Given the description of an element on the screen output the (x, y) to click on. 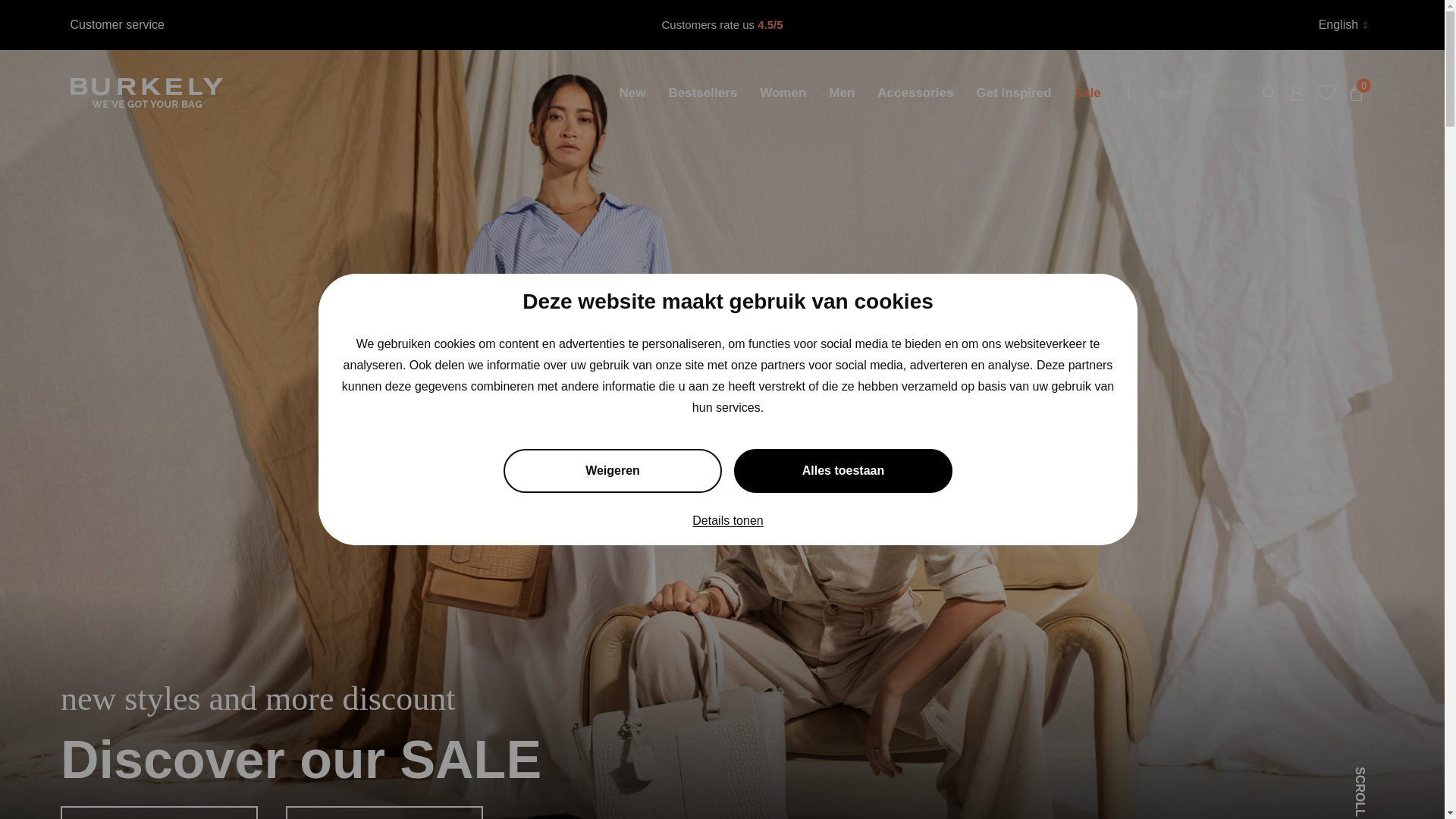
Weigeren (612, 510)
Details tonen (727, 537)
Alles toestaan (842, 502)
Customer service (120, 24)
